Given the description of an element on the screen output the (x, y) to click on. 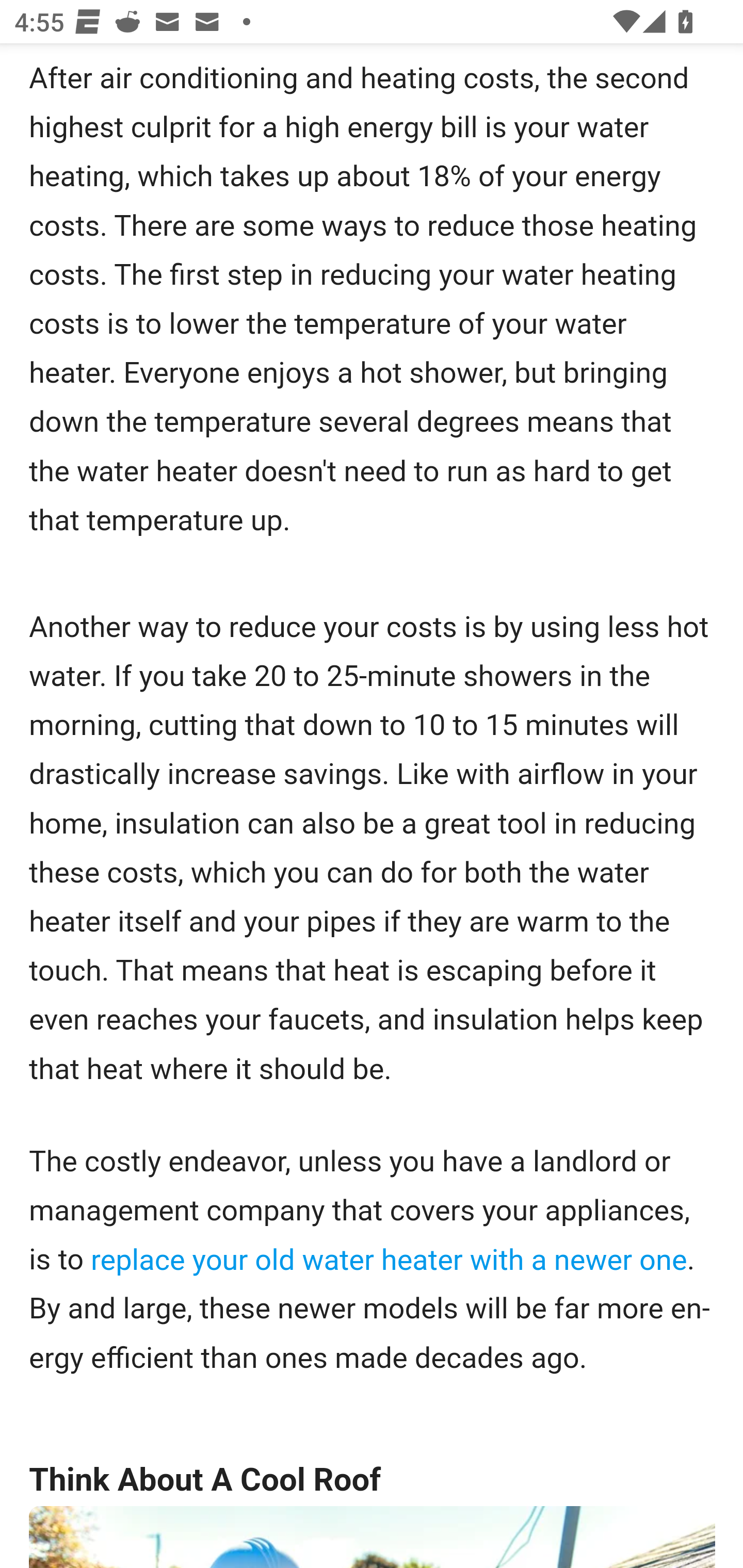
replace your old water heater with a newer one (389, 1261)
